Given the description of an element on the screen output the (x, y) to click on. 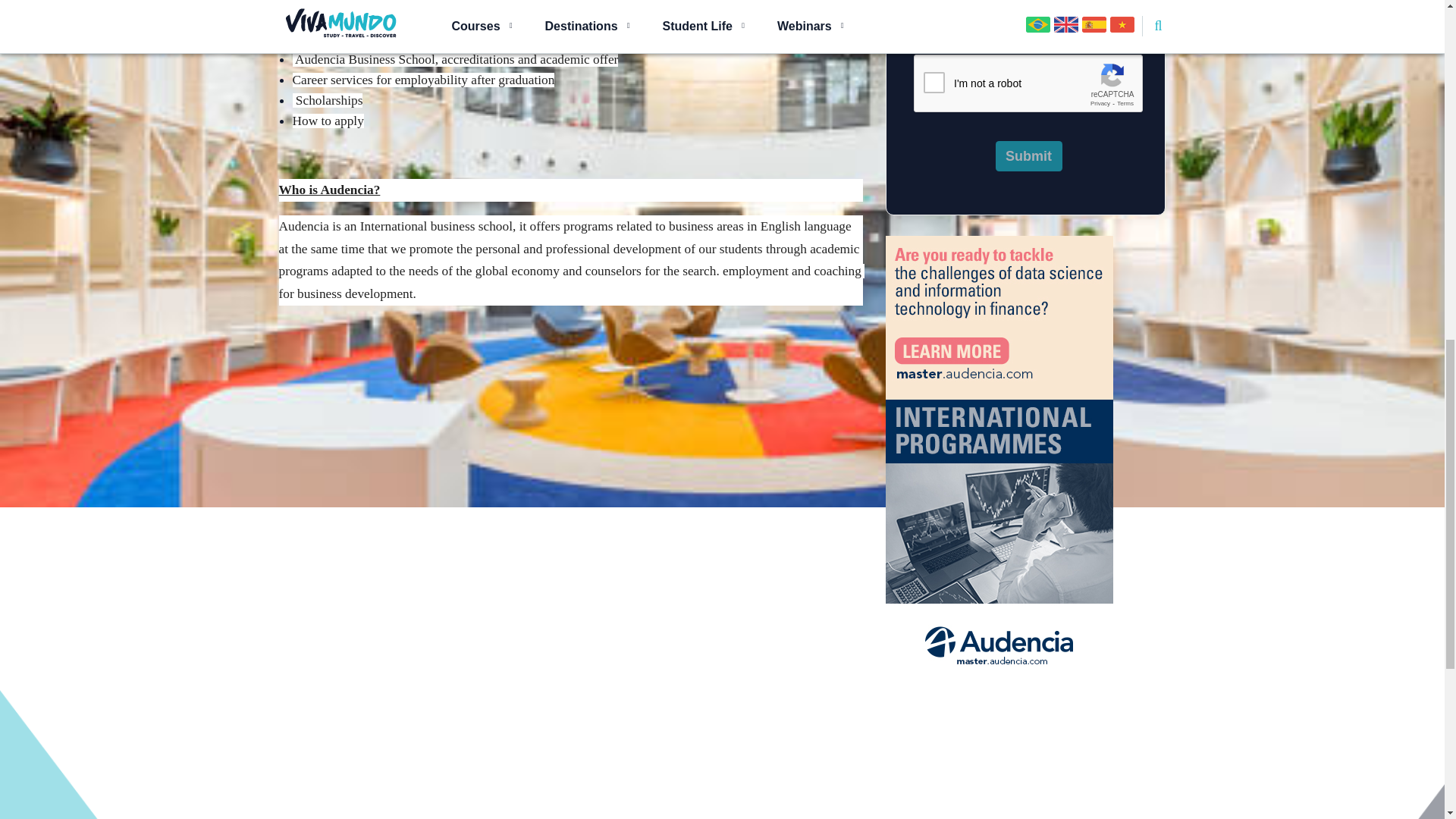
Back to Top (1397, 132)
Submit (1027, 155)
reCAPTCHA (1027, 83)
